Given the description of an element on the screen output the (x, y) to click on. 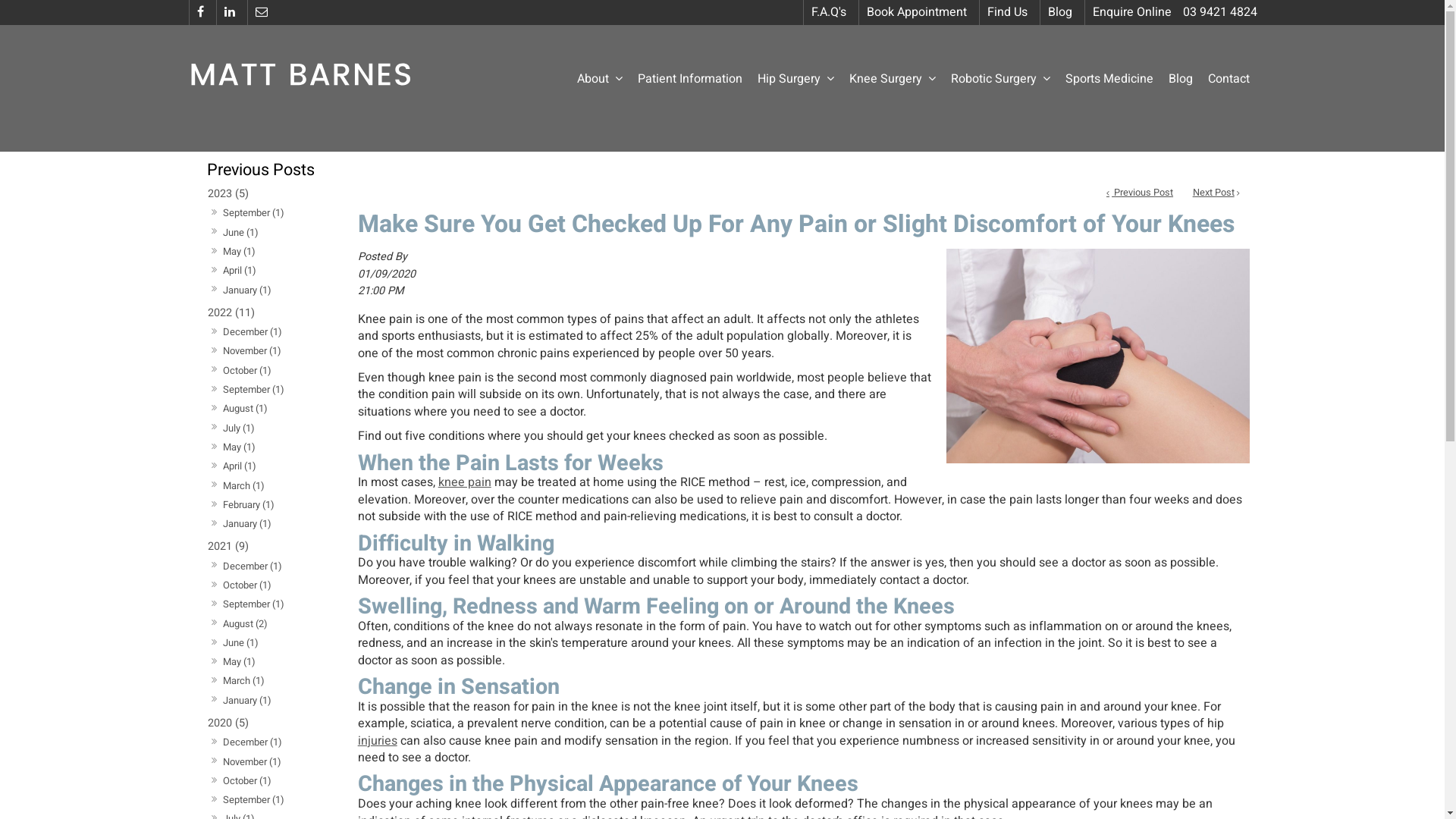
June (1) Element type: text (240, 232)
December (1) Element type: text (251, 742)
May (1) Element type: text (238, 251)
March (1) Element type: text (243, 681)
F.A.Q's Element type: text (827, 12)
January (1) Element type: text (246, 524)
Find Us Element type: text (1006, 12)
Previous Post Element type: text (1139, 192)
November (1) Element type: text (251, 351)
Knee Surgery Element type: text (892, 80)
Robotic Surgery Element type: text (1000, 80)
2023 (5) Element type: text (270, 194)
Contact Element type: text (1227, 80)
May (1) Element type: text (238, 447)
Sports Medicine Element type: text (1108, 80)
November (1) Element type: text (251, 761)
January (1) Element type: text (246, 700)
July (1) Element type: text (238, 427)
October (1) Element type: text (246, 781)
Blog Element type: text (1058, 12)
October (1) Element type: text (246, 370)
September (1) Element type: text (253, 604)
May (1) Element type: text (238, 662)
August (1) Element type: text (244, 408)
September (1) Element type: text (253, 800)
2021 (9) Element type: text (270, 546)
knee pain Element type: text (464, 482)
September (1) Element type: text (253, 389)
December (1) Element type: text (251, 565)
April (1) Element type: text (239, 270)
2020 (5) Element type: text (270, 722)
September (1) Element type: text (253, 213)
June (1) Element type: text (240, 643)
April (1) Element type: text (239, 466)
Patient Information Element type: text (689, 80)
March (1) Element type: text (243, 485)
August (2) Element type: text (244, 623)
December (1) Element type: text (251, 332)
Hip Surgery Element type: text (794, 80)
January (1) Element type: text (246, 289)
Enquire Online Element type: text (1131, 12)
Next Post Element type: text (1216, 192)
Book Appointment Element type: text (916, 12)
Blog Element type: text (1179, 80)
2022 (11) Element type: text (270, 312)
February (1) Element type: text (248, 505)
injuries Element type: text (377, 740)
About Element type: text (598, 80)
October (1) Element type: text (246, 585)
